Given the description of an element on the screen output the (x, y) to click on. 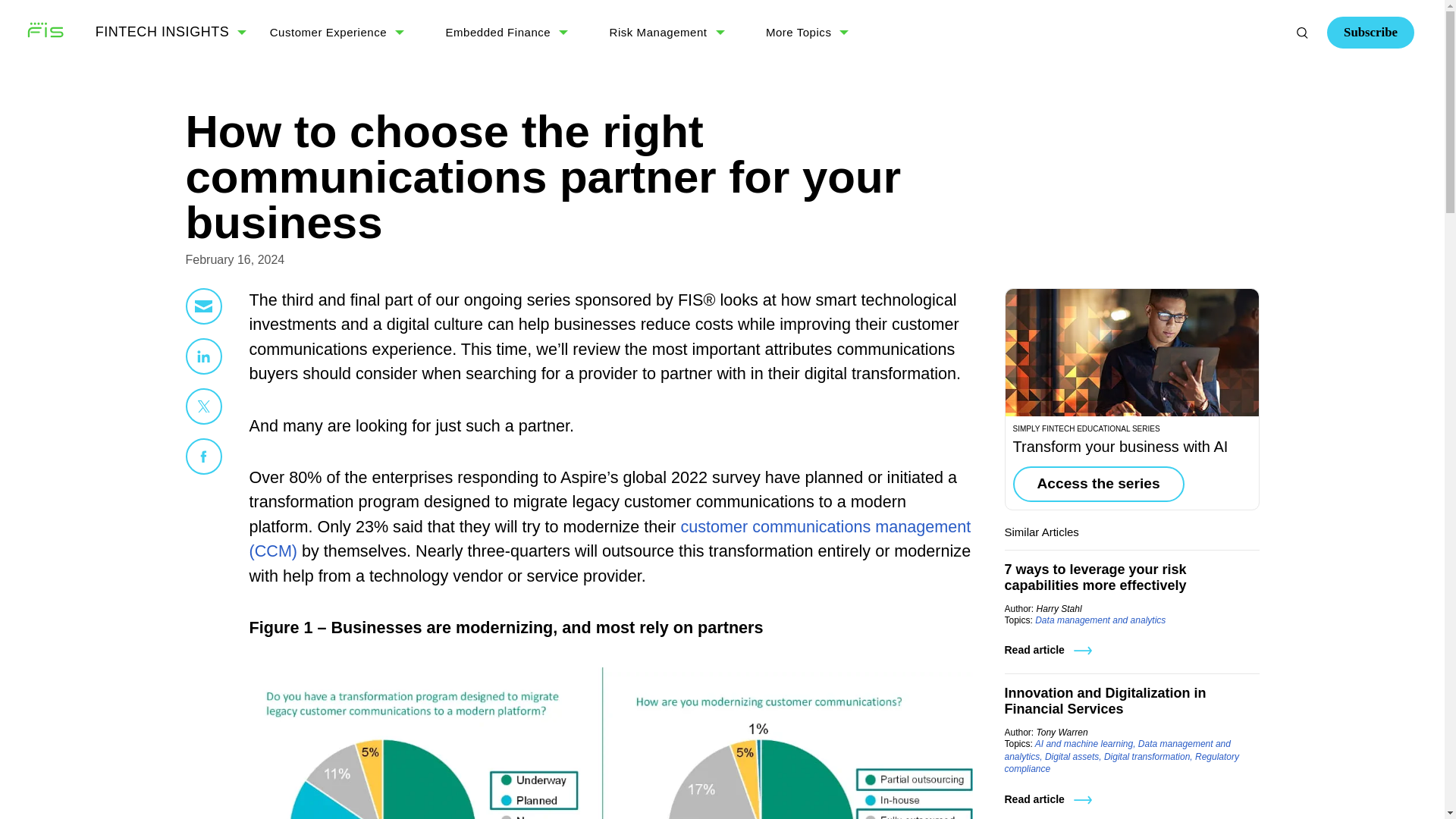
Subscribe (1217, 94)
More Topics (798, 32)
Subscribe (1369, 32)
Customer Experience (328, 32)
Risk Management (658, 32)
Insight Search (1302, 32)
FINTECH INSIGHTS (163, 31)
Embedded Finance (498, 32)
